Given the description of an element on the screen output the (x, y) to click on. 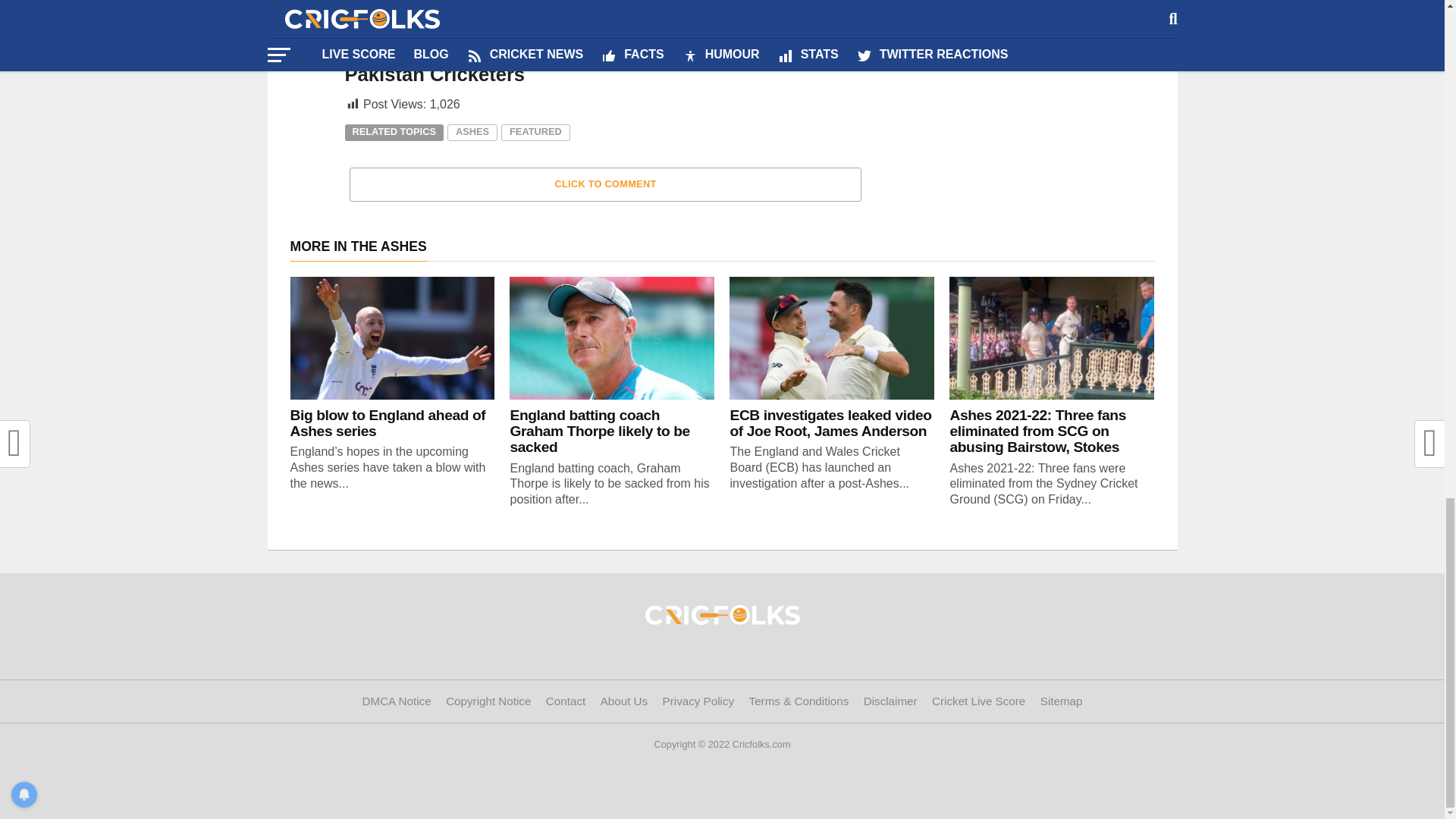
Big blow to England ahead of Ashes series 2 (392, 337)
ECB investigates leaked video of Joe Root, James Anderson 6 (831, 337)
England batting coach Graham Thorpe likely to be sacked 4 (611, 337)
